Given the description of an element on the screen output the (x, y) to click on. 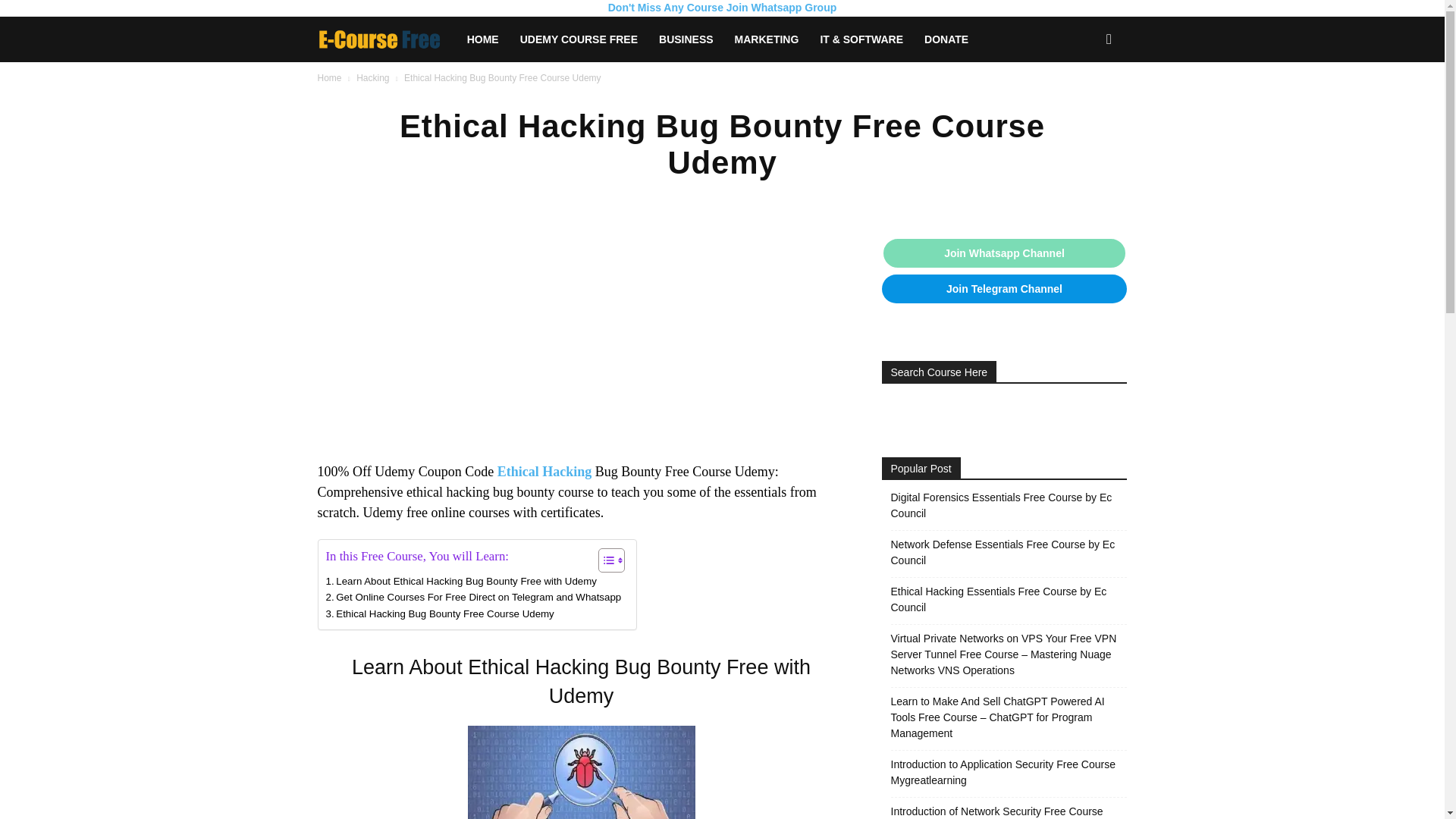
MARKETING (766, 39)
DONATE (946, 39)
Learn About Ethical Hacking Bug Bounty Free with Udemy (461, 580)
Ethical Hacking Bug Bounty Free Course Udemy (440, 613)
E- Course free (379, 40)
UDEMY COURSE FREE (578, 39)
Get Online Courses For Free Direct on Telegram and Whatsapp (473, 596)
ecoursefree (386, 39)
HOME (483, 39)
Advertisement (580, 349)
